Given the description of an element on the screen output the (x, y) to click on. 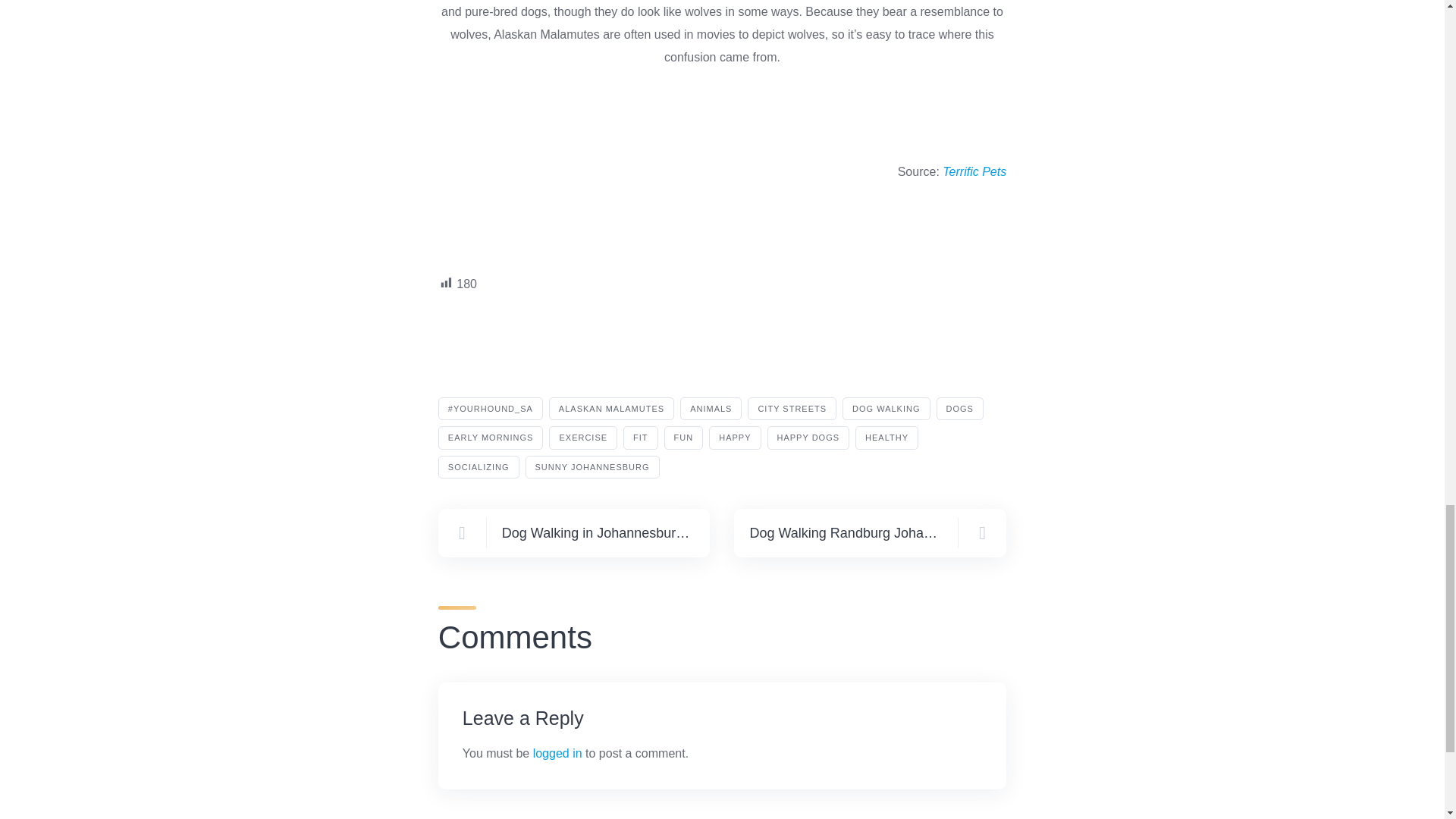
FIT (640, 437)
DOGS (960, 408)
EARLY MORNINGS (490, 437)
CITY STREETS (791, 408)
ANIMALS (710, 408)
HAPPY DOGS (808, 437)
logged in (557, 753)
Terrific Pets (974, 171)
SOCIALIZING (478, 466)
ALASKAN MALAMUTES (611, 408)
